Given the description of an element on the screen output the (x, y) to click on. 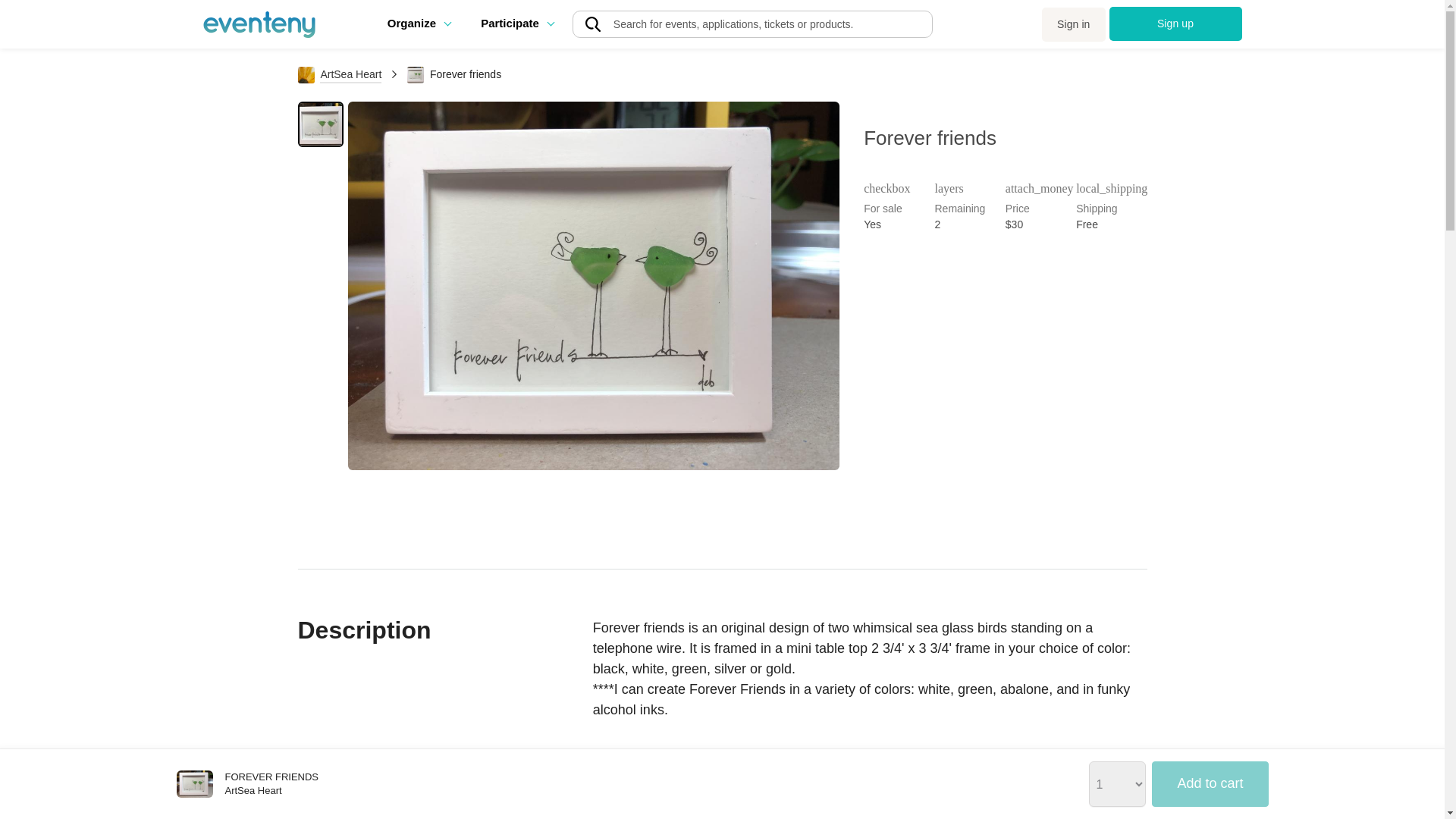
Organize (418, 22)
ArtSea Heart (340, 73)
Sign in (1073, 24)
Forever friends (194, 783)
Participate (516, 22)
Create events your way - Eventeny (259, 24)
